Given the description of an element on the screen output the (x, y) to click on. 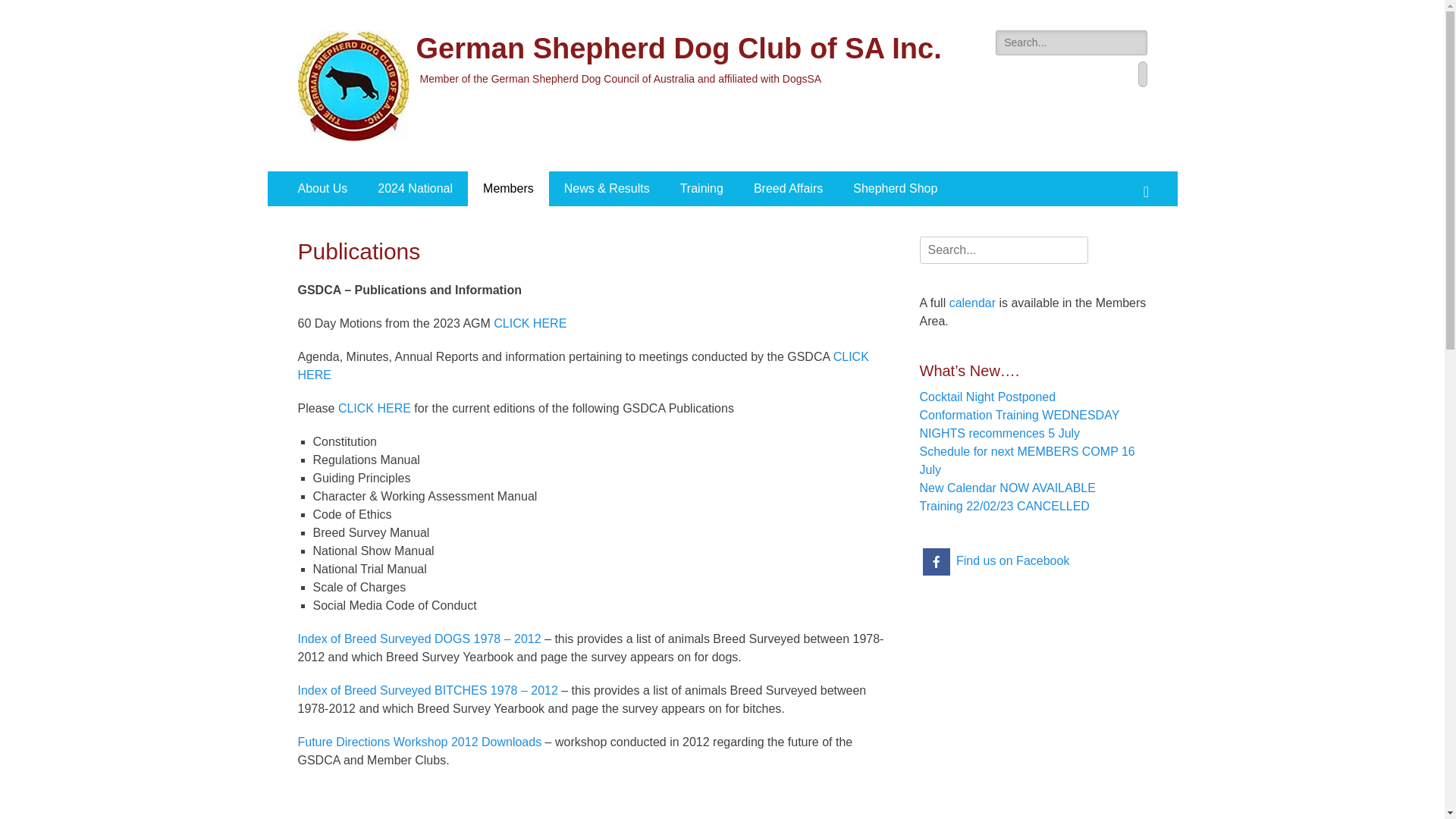
Training Element type: text (701, 188)
calendar Element type: text (972, 302)
2024 National Element type: text (414, 188)
Future Directions Workshop 2012 Downloads Element type: text (419, 741)
CLICK HERE Element type: text (529, 322)
New Calendar NOW AVAILABLE Element type: text (1007, 487)
Training 22/02/23 CANCELLED Element type: text (1003, 505)
Facebook Element type: text (1141, 74)
Schedule for next MEMBERS COMP 16 July Element type: text (1026, 460)
Shepherd Shop Element type: text (894, 188)
CLICK HERE Element type: text (582, 365)
Search Element type: text (1148, 171)
Search for: Element type: hover (1003, 249)
Members Element type: text (508, 188)
German Shepherd Dog Club of SA Inc. Element type: text (678, 48)
CLICK HERE Element type: text (374, 407)
News & Results Element type: text (607, 188)
Breed Affairs Element type: text (787, 188)
Conformation Training WEDNESDAY NIGHTS recommences 5 July Element type: text (1019, 423)
Search Element type: text (24, 9)
Search for: Element type: hover (1070, 42)
About Us Element type: text (322, 188)
Cocktail Night Postponed Element type: text (987, 396)
Find us on Facebook Element type: text (995, 560)
